Given the description of an element on the screen output the (x, y) to click on. 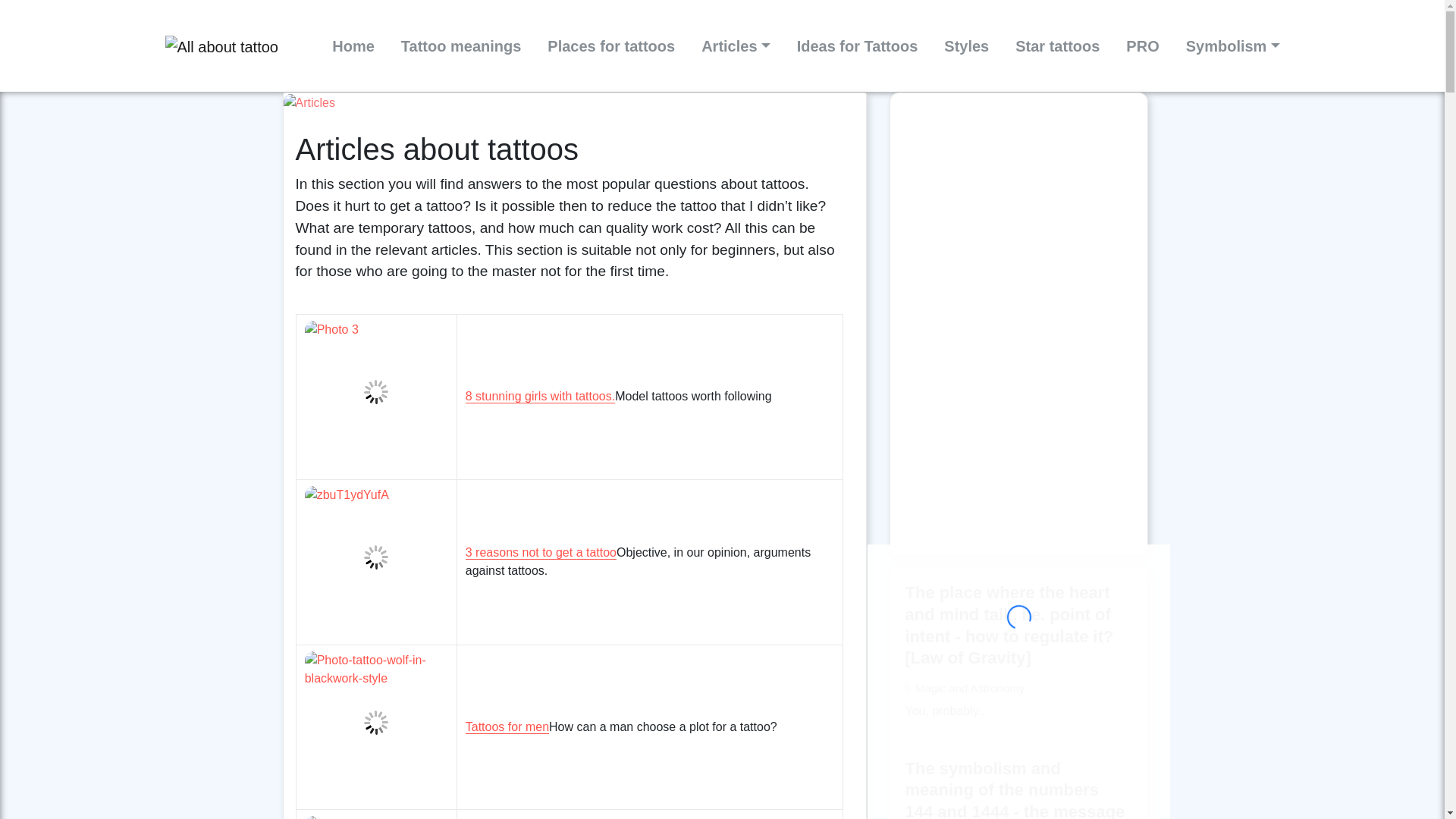
Tattoo meanings (461, 46)
Places for tattoos (611, 46)
Articles (735, 46)
Home (352, 46)
Ideas for Tattoos (857, 46)
Symbolism (1232, 46)
Styles (965, 46)
Star tattoos (1056, 46)
PRO (1141, 46)
